Given the description of an element on the screen output the (x, y) to click on. 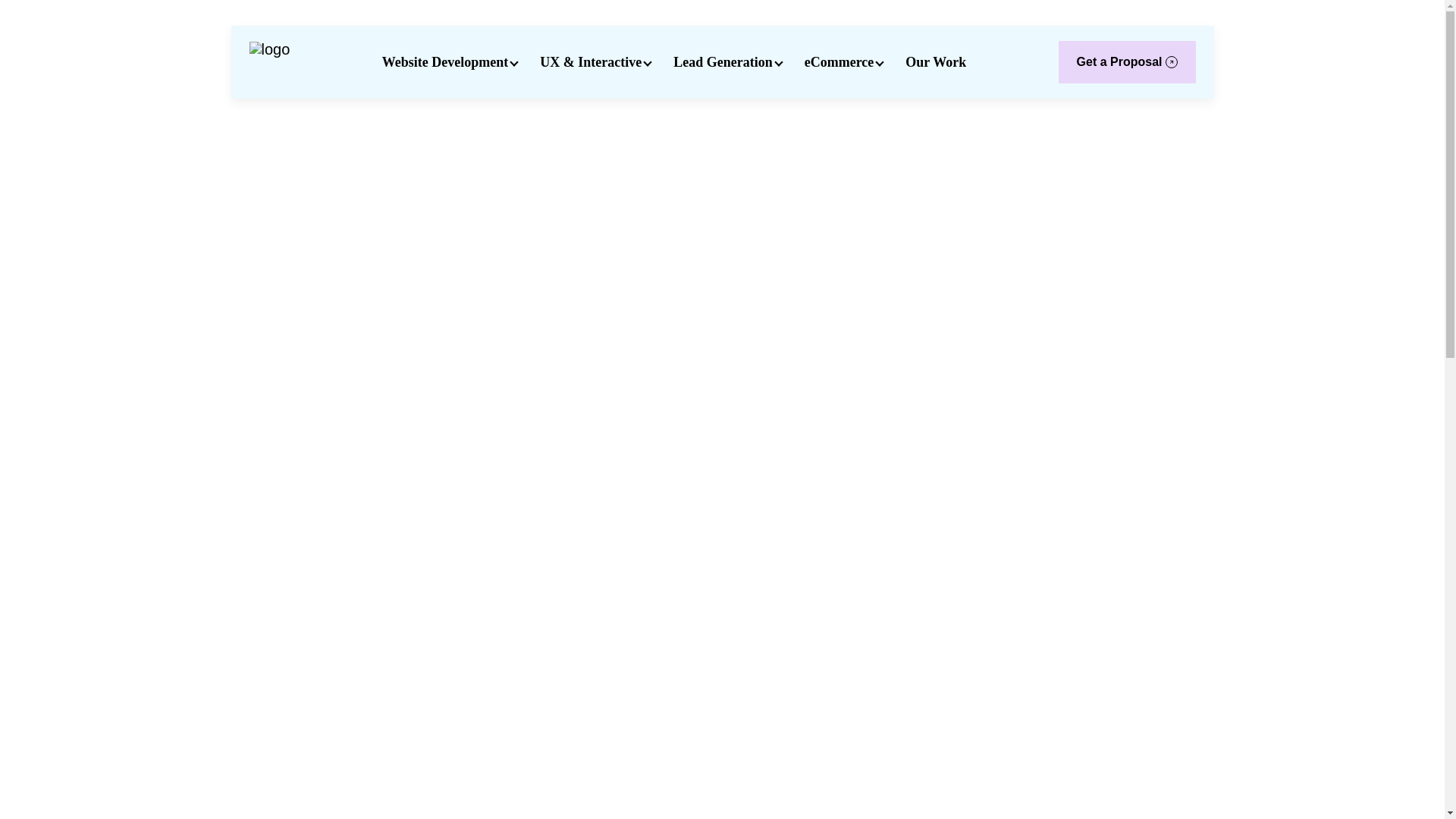
Our Work (935, 62)
Lead Generation (722, 61)
Our Work (935, 61)
eCommerce (840, 61)
Get a Proposal (1126, 61)
Website Development (444, 61)
Lead Generation (722, 62)
Get a Proposal (1126, 61)
Website Development (444, 62)
logo (268, 61)
